Given the description of an element on the screen output the (x, y) to click on. 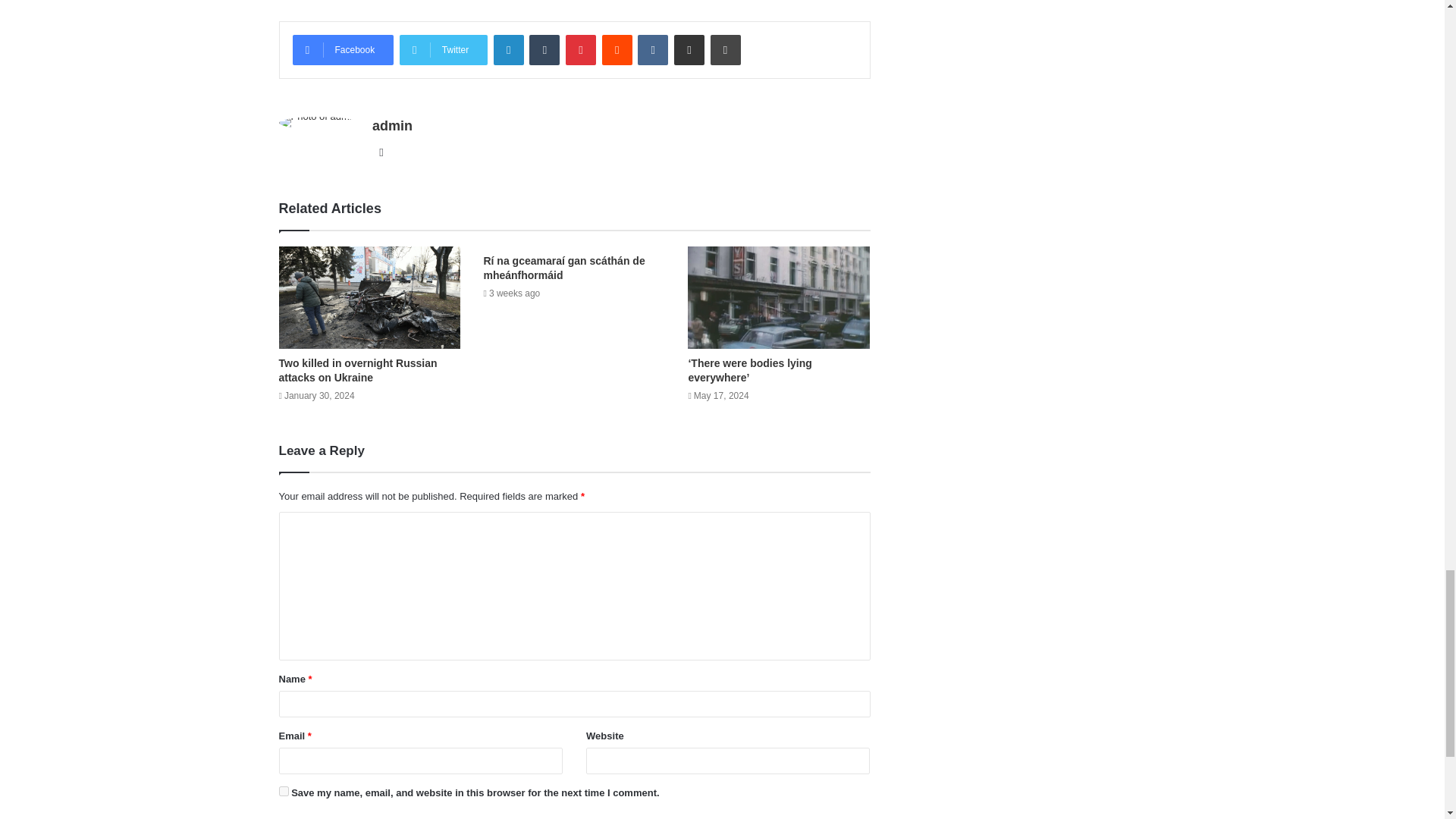
Tumblr (544, 50)
Share via Email (689, 50)
admin (392, 125)
Twitter (442, 50)
LinkedIn (508, 50)
Pinterest (580, 50)
VKontakte (652, 50)
Website (381, 152)
Reddit (616, 50)
yes (283, 791)
